Given the description of an element on the screen output the (x, y) to click on. 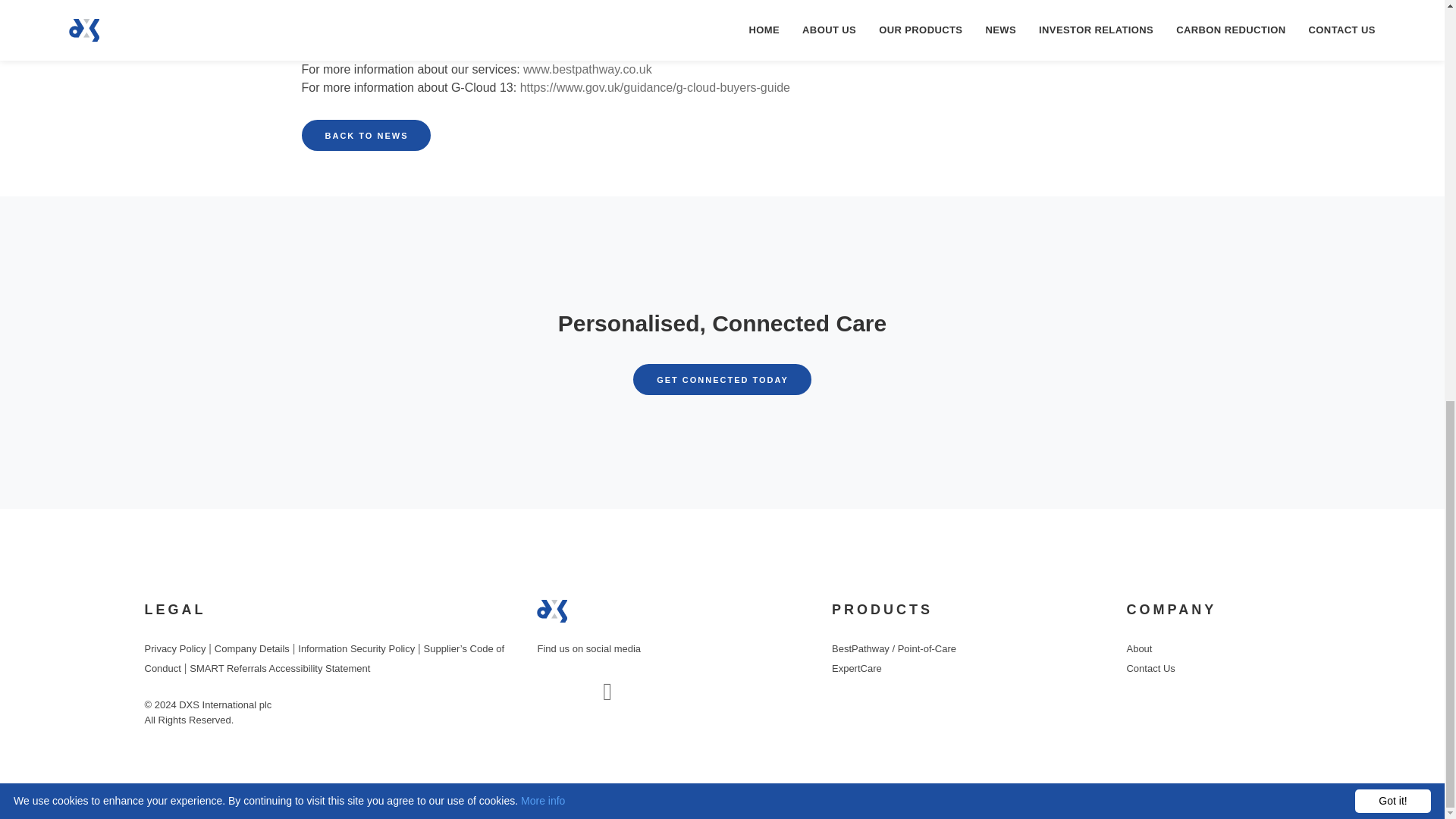
Company Details (251, 648)
BACK TO NEWS (365, 134)
Information Security Policy (356, 648)
More info (542, 15)
Personalised, Connected Care (721, 323)
About (1138, 648)
SMART Referrals Accessibility Statement (721, 378)
Contact Us (279, 668)
dxs logo (1149, 668)
Privacy Policy (552, 610)
GET CONNECTED TODAY (174, 648)
ExpertCare (721, 378)
www.bestpathway.co.uk (856, 668)
